Given the description of an element on the screen output the (x, y) to click on. 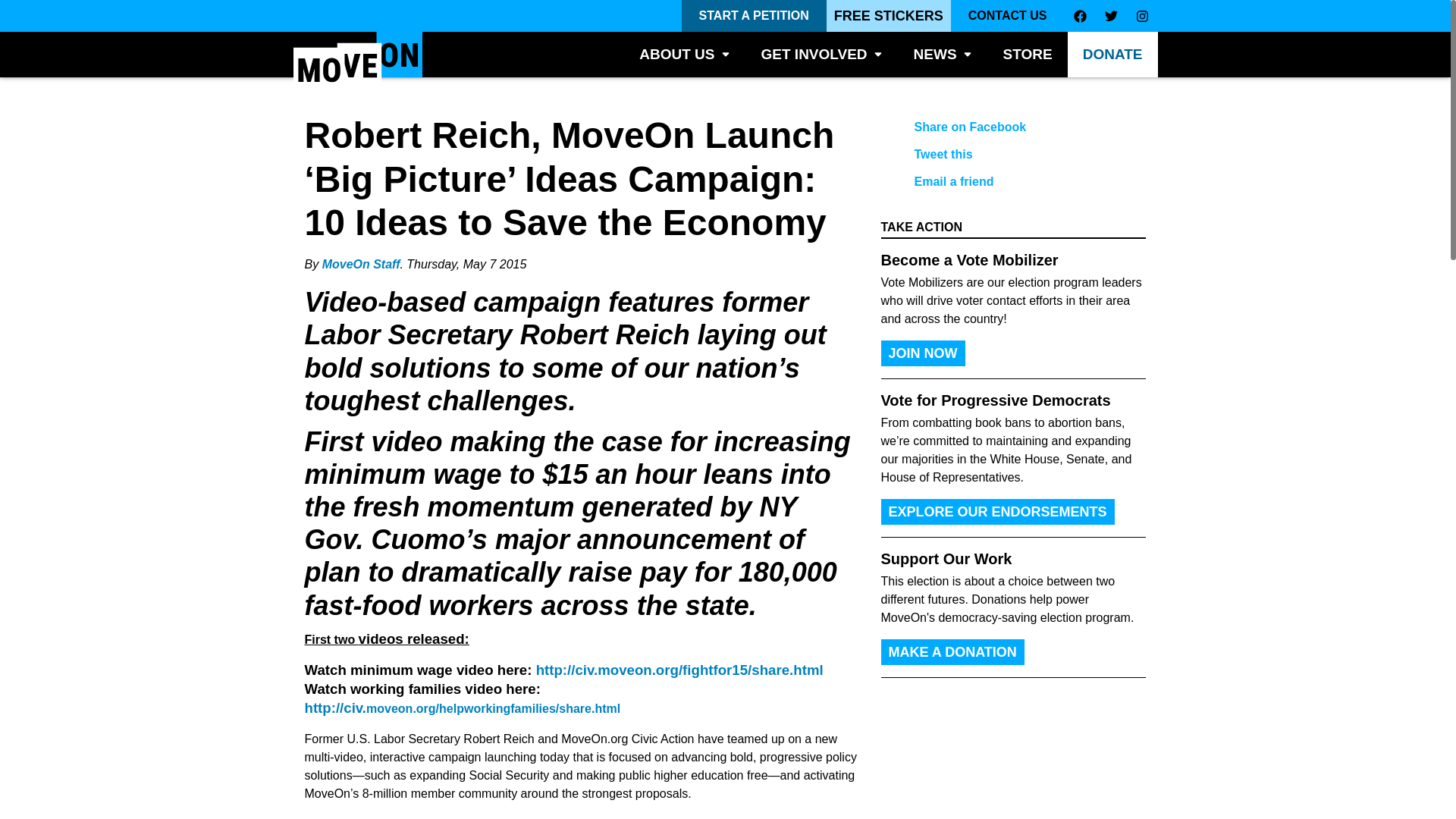
DONATE (1112, 53)
JOIN NOW (922, 353)
MAKE A DONATION (952, 652)
START A PETITION (754, 15)
FREE STICKERS (888, 15)
EXPLORE OUR ENDORSEMENTS (997, 511)
CONTACT US (1007, 15)
MoveOn Staff (360, 264)
STORE (1027, 53)
Posts by MoveOn Staff (360, 264)
Tweet this (1001, 154)
Share on Facebook (1001, 126)
Email a friend (1001, 181)
